Given the description of an element on the screen output the (x, y) to click on. 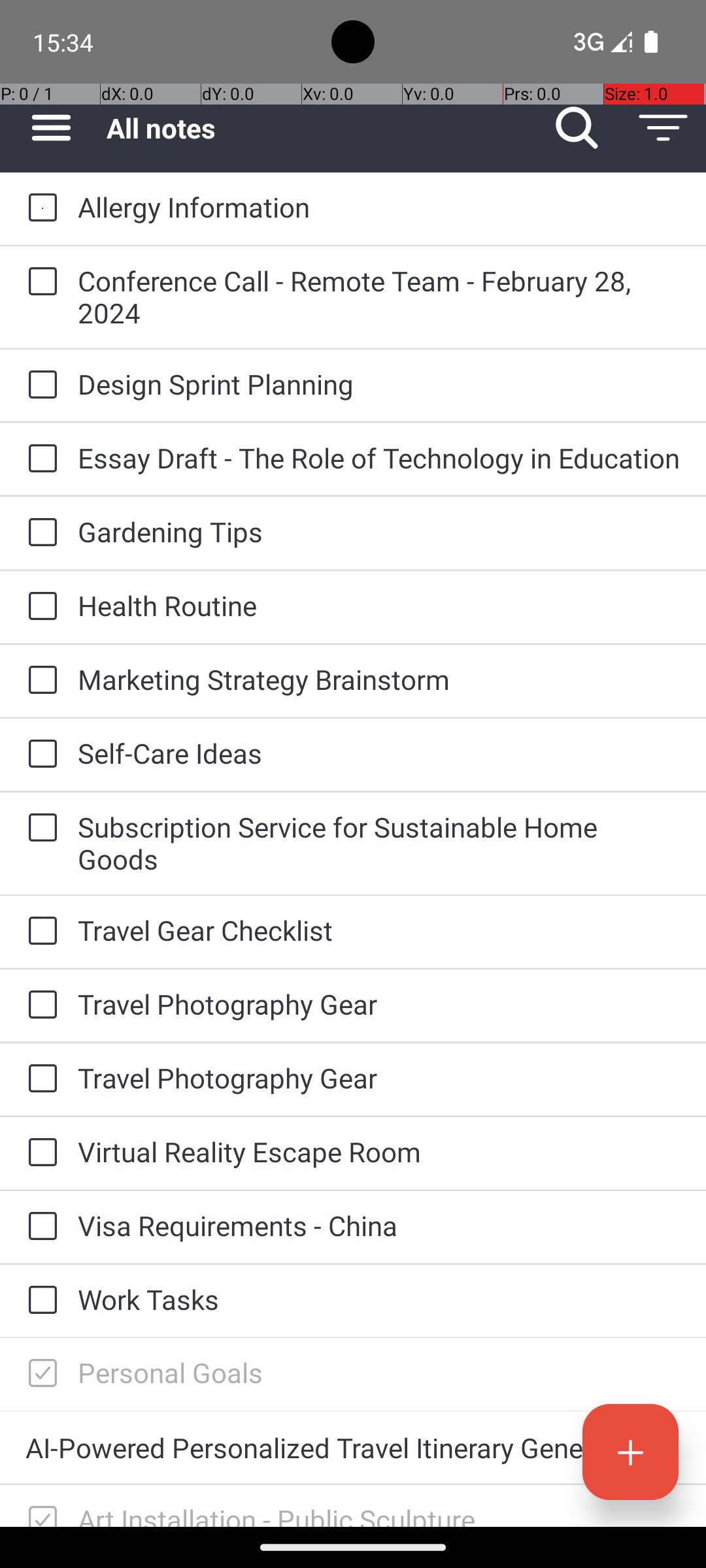
to-do: Conference Call - Remote Team - February 28, 2024 Element type: android.widget.CheckBox (38, 282)
Conference Call - Remote Team - February 28, 2024 Element type: android.widget.TextView (378, 296)
to-do: Marketing Strategy Brainstorm Element type: android.widget.CheckBox (38, 680)
Marketing Strategy Brainstorm Element type: android.widget.TextView (378, 678)
to-do: Subscription Service for Sustainable Home Goods Element type: android.widget.CheckBox (38, 828)
Subscription Service for Sustainable Home Goods Element type: android.widget.TextView (378, 842)
to-do: Travel Gear Checklist Element type: android.widget.CheckBox (38, 931)
Travel Gear Checklist Element type: android.widget.TextView (378, 929)
to-do: Visa Requirements - China Element type: android.widget.CheckBox (38, 1226)
Visa Requirements - China Element type: android.widget.TextView (378, 1224)
to-do: Work Tasks Element type: android.widget.CheckBox (38, 1300)
Work Tasks Element type: android.widget.TextView (378, 1298)
to-do: Personal Goals Element type: android.widget.CheckBox (38, 1373)
Personal Goals Element type: android.widget.TextView (378, 1371)
AI-Powered Personalized Travel Itinerary Generator Element type: android.widget.TextView (352, 1447)
to-do: Art Installation - Public Sculpture Element type: android.widget.CheckBox (38, 1505)
Art Installation - Public Sculpture Element type: android.widget.TextView (378, 1513)
